Given the description of an element on the screen output the (x, y) to click on. 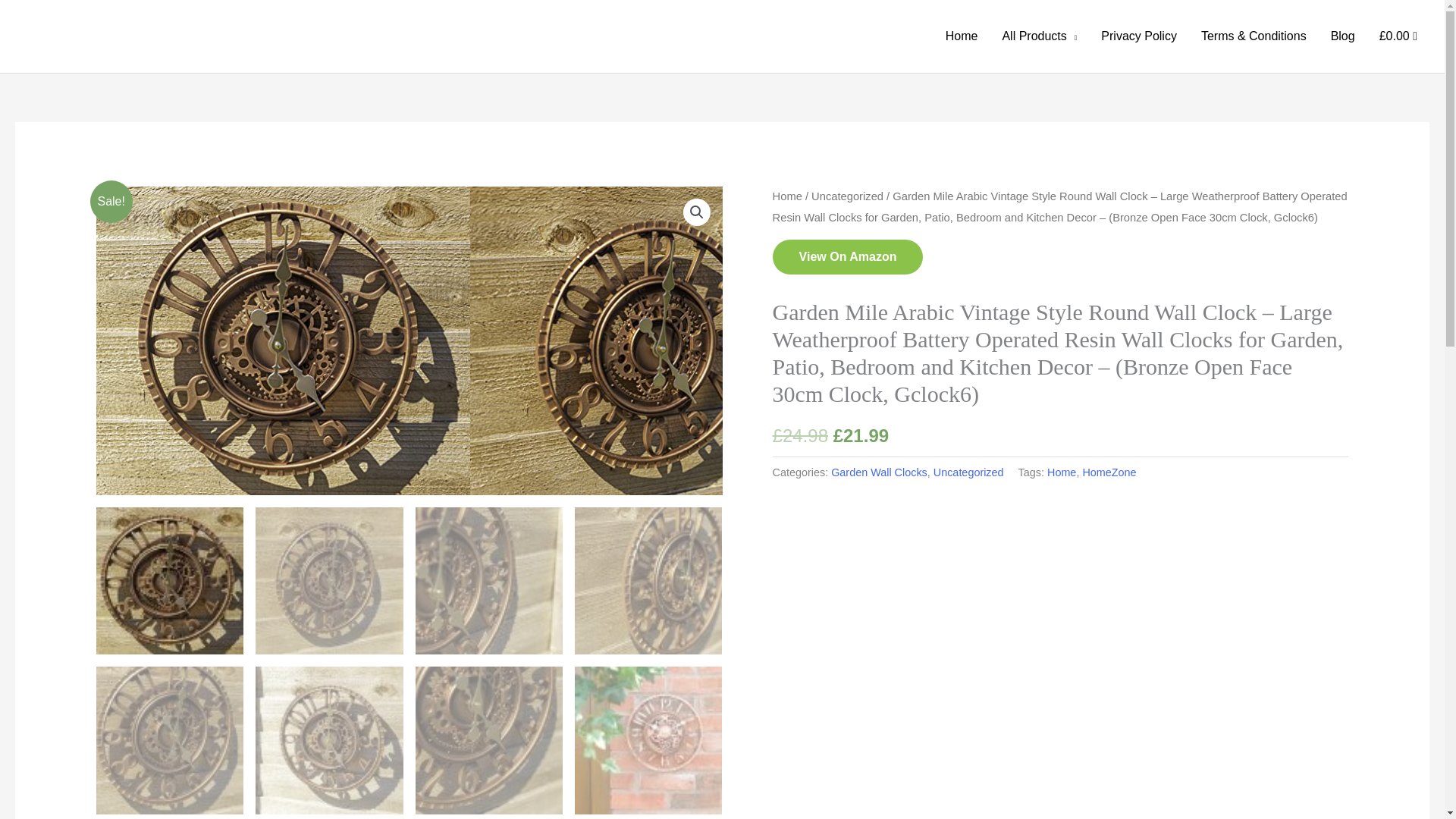
Home (961, 36)
All Products (1039, 36)
